Given the description of an element on the screen output the (x, y) to click on. 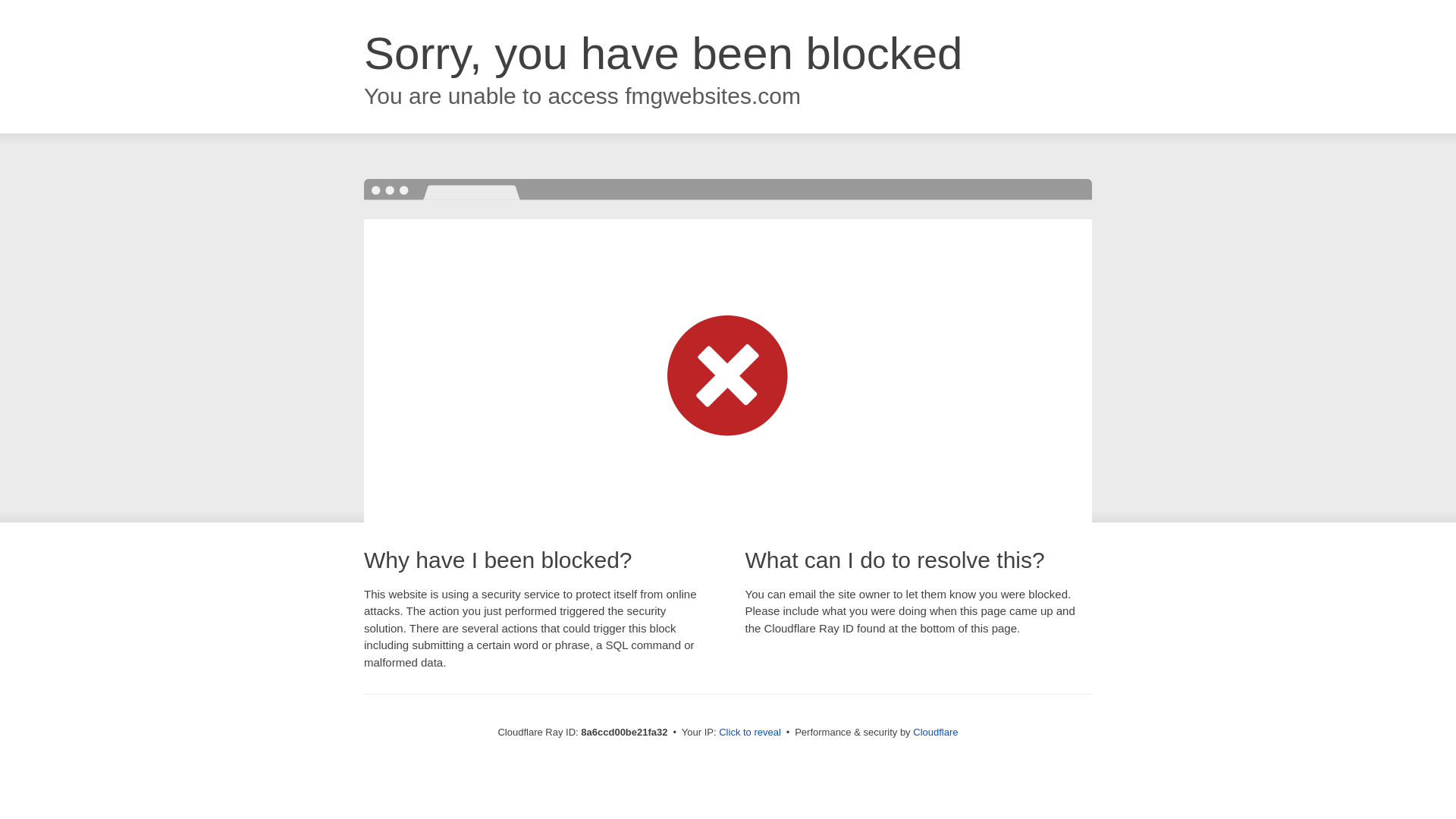
Cloudflare (935, 731)
Click to reveal (749, 732)
